Given the description of an element on the screen output the (x, y) to click on. 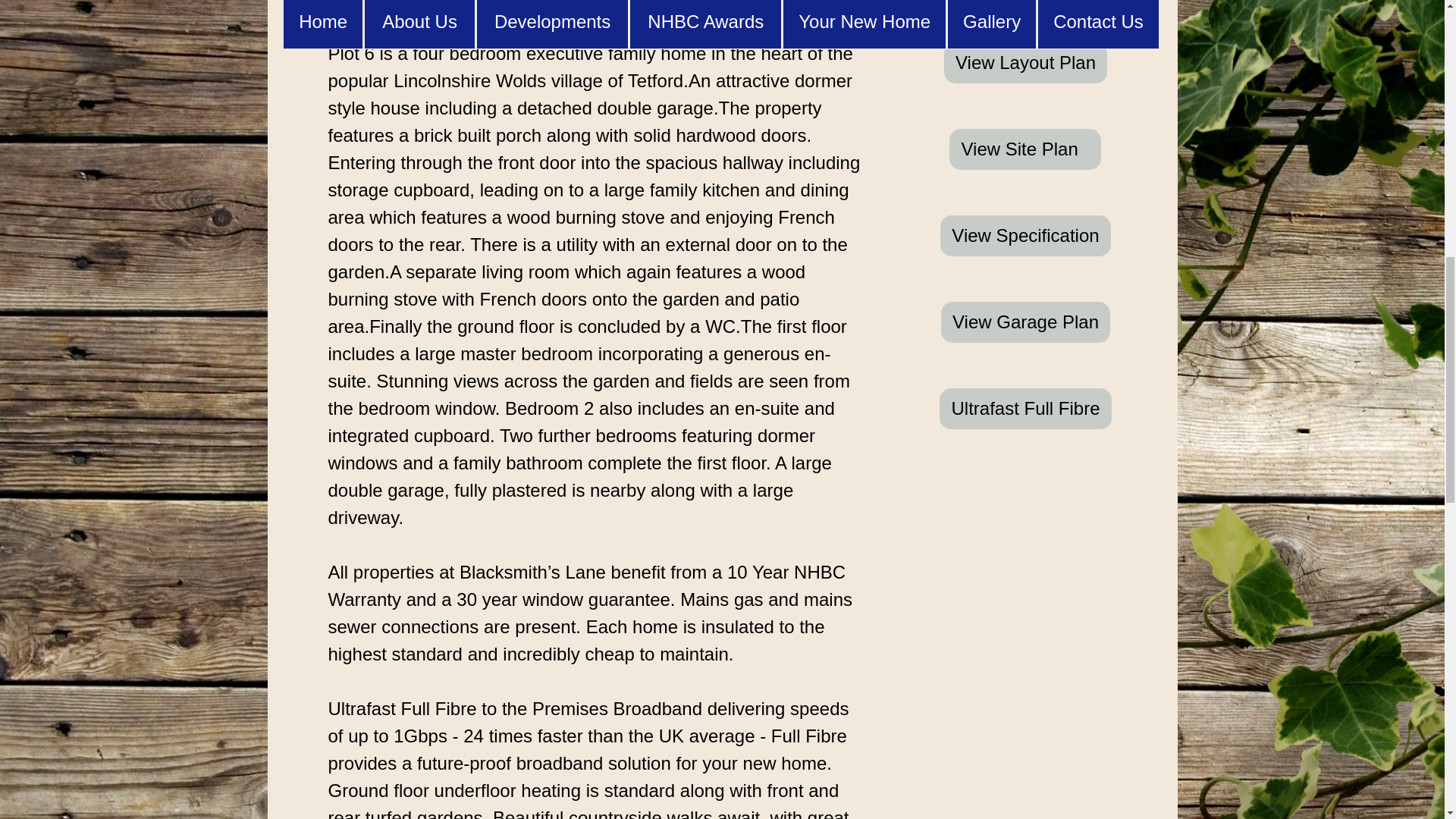
Ultrafast Full Fibre (1024, 408)
View Garage Plan (1024, 322)
View Specification (1024, 235)
View Layout Plan (1024, 62)
View Site Plan (1024, 148)
